Given the description of an element on the screen output the (x, y) to click on. 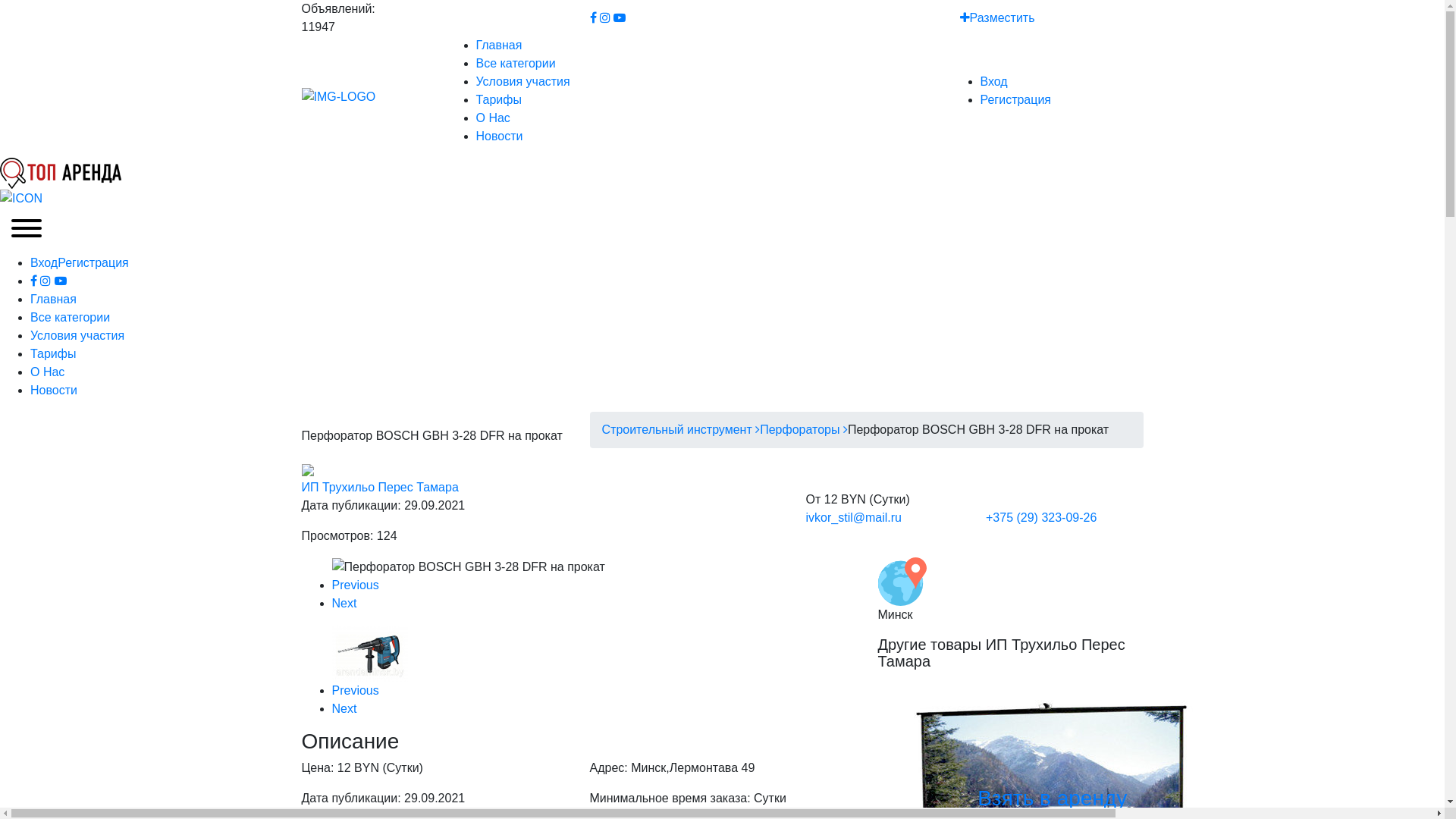
ivkor_stil@mail.ru Element type: text (852, 517)
+375 (29) 323-09-26 Element type: text (1040, 517)
Next Element type: text (344, 602)
Previous Element type: text (355, 690)
Next Element type: text (344, 708)
Previous Element type: text (355, 584)
